Given the description of an element on the screen output the (x, y) to click on. 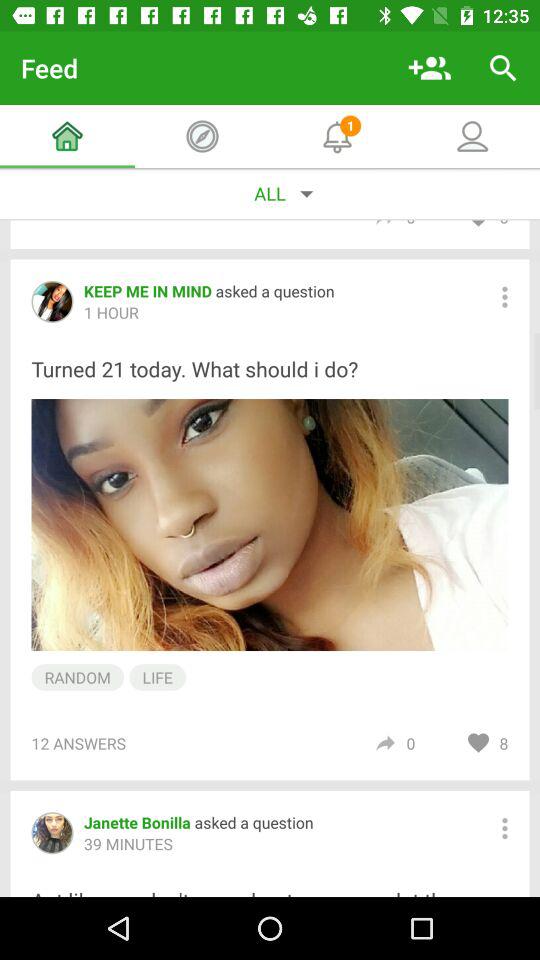
tap the app to the right of the feed item (429, 67)
